Given the description of an element on the screen output the (x, y) to click on. 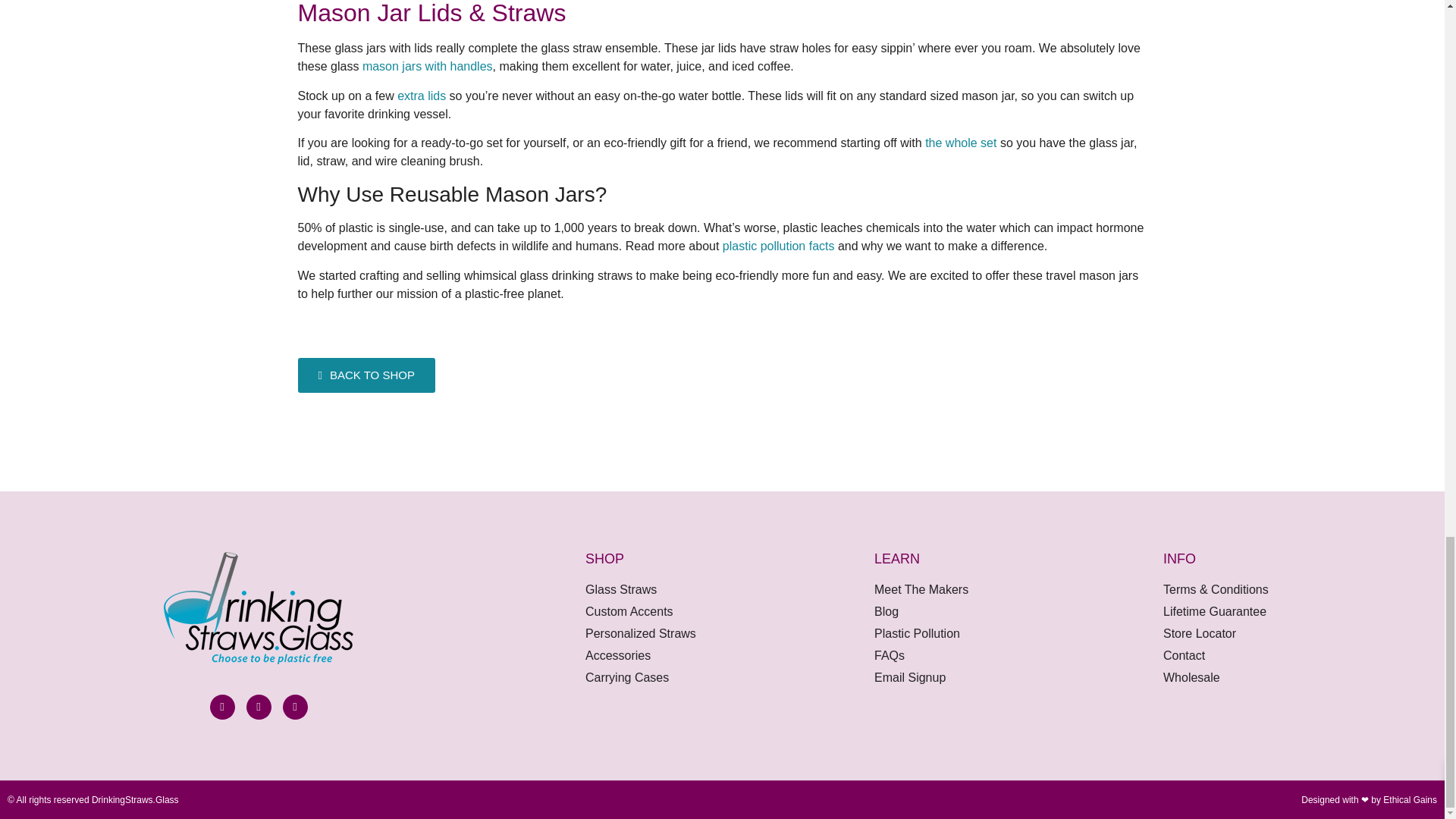
dgs-logo (258, 608)
